Given the description of an element on the screen output the (x, y) to click on. 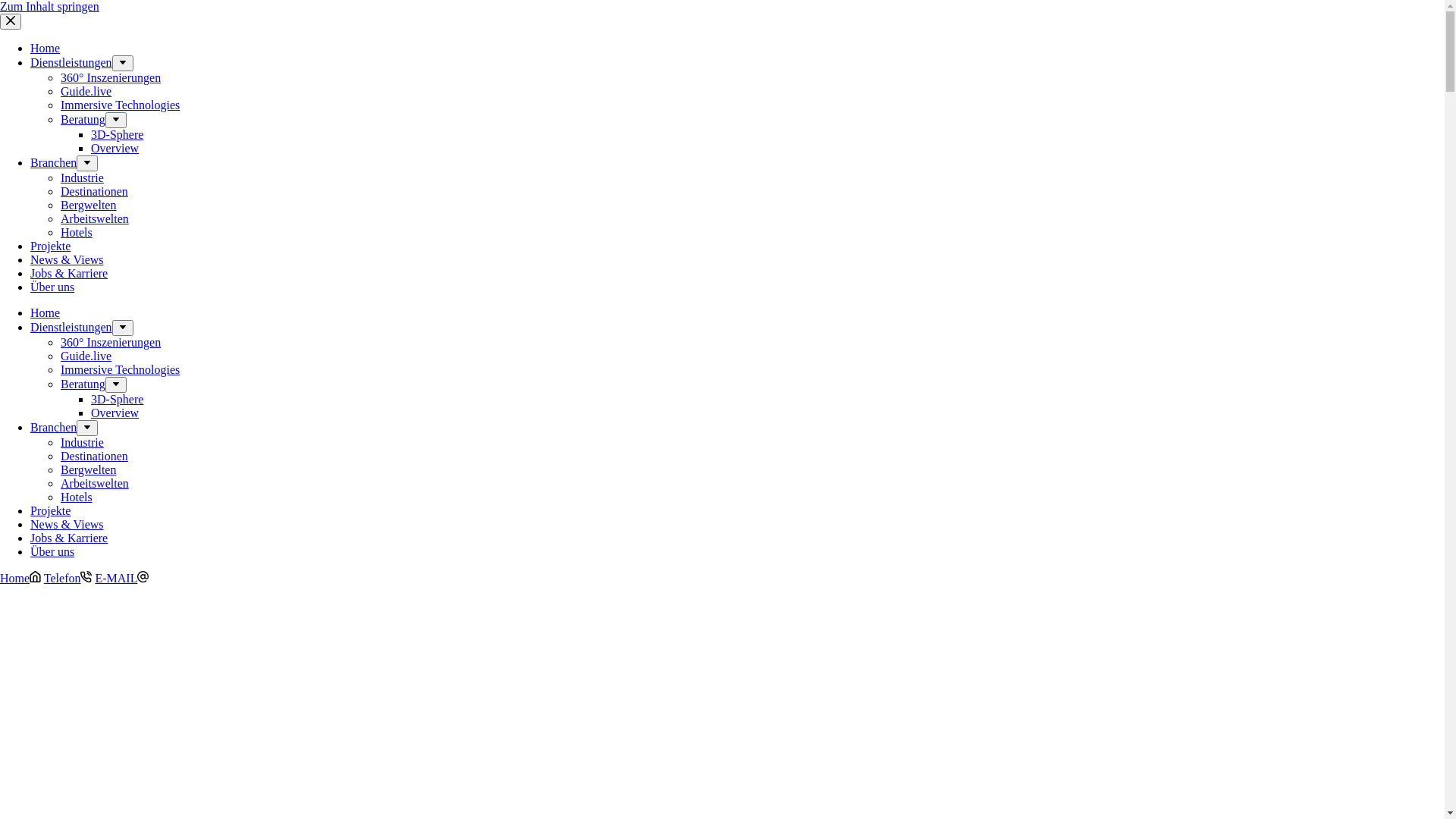
E-MAIL Element type: text (121, 577)
Home Element type: text (44, 312)
Overview Element type: text (114, 412)
Hotels Element type: text (76, 231)
3D-Sphere Element type: text (117, 134)
Beratung Element type: text (82, 118)
Hotels Element type: text (76, 496)
Immersive Technologies Element type: text (119, 104)
Zum Inhalt springen Element type: text (49, 6)
Jobs & Karriere Element type: text (68, 537)
Branchen Element type: text (53, 426)
3D-Sphere Element type: text (117, 398)
Dienstleistungen Element type: text (71, 326)
Beratung Element type: text (82, 383)
Arbeitswelten Element type: text (94, 482)
Bergwelten Element type: text (88, 204)
Projekte Element type: text (50, 245)
Projekte Element type: text (50, 510)
Immersive Technologies Element type: text (119, 369)
Guide.live Element type: text (85, 90)
Home Element type: text (20, 577)
Overview Element type: text (114, 147)
Arbeitswelten Element type: text (94, 218)
Jobs & Karriere Element type: text (68, 272)
Guide.live Element type: text (85, 355)
Branchen Element type: text (53, 162)
Dienstleistungen Element type: text (71, 62)
News & Views Element type: text (66, 259)
Industrie Element type: text (81, 177)
News & Views Element type: text (66, 523)
Home Element type: text (44, 47)
Telefon Element type: text (67, 577)
Destinationen Element type: text (94, 455)
Industrie Element type: text (81, 442)
Destinationen Element type: text (94, 191)
Bergwelten Element type: text (88, 469)
